Given the description of an element on the screen output the (x, y) to click on. 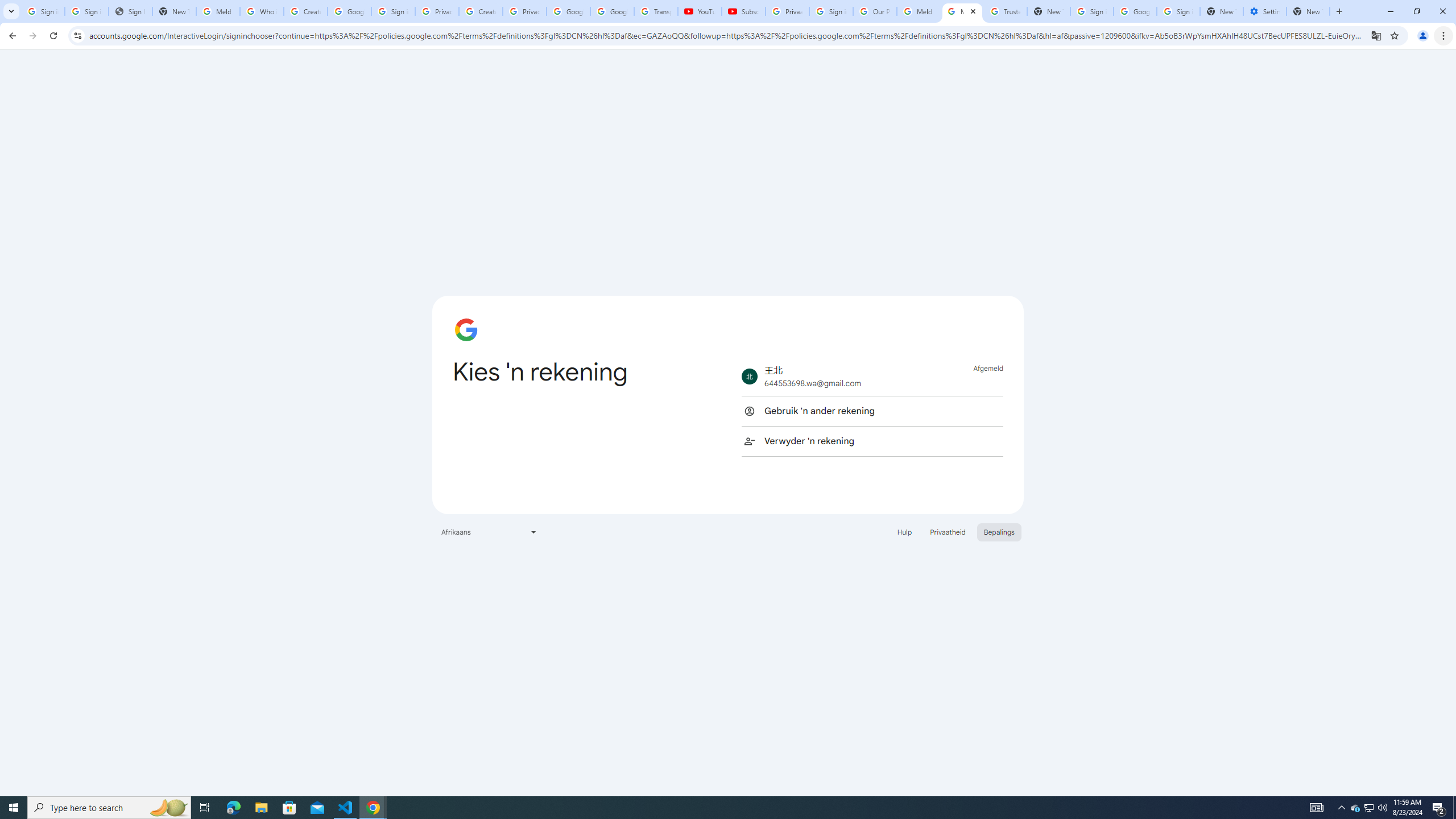
Privaatheid (947, 531)
Bepalings (999, 531)
Create your Google Account (481, 11)
Google Cybersecurity Innovations - Google Safety Center (1134, 11)
Google Account (612, 11)
